Given the description of an element on the screen output the (x, y) to click on. 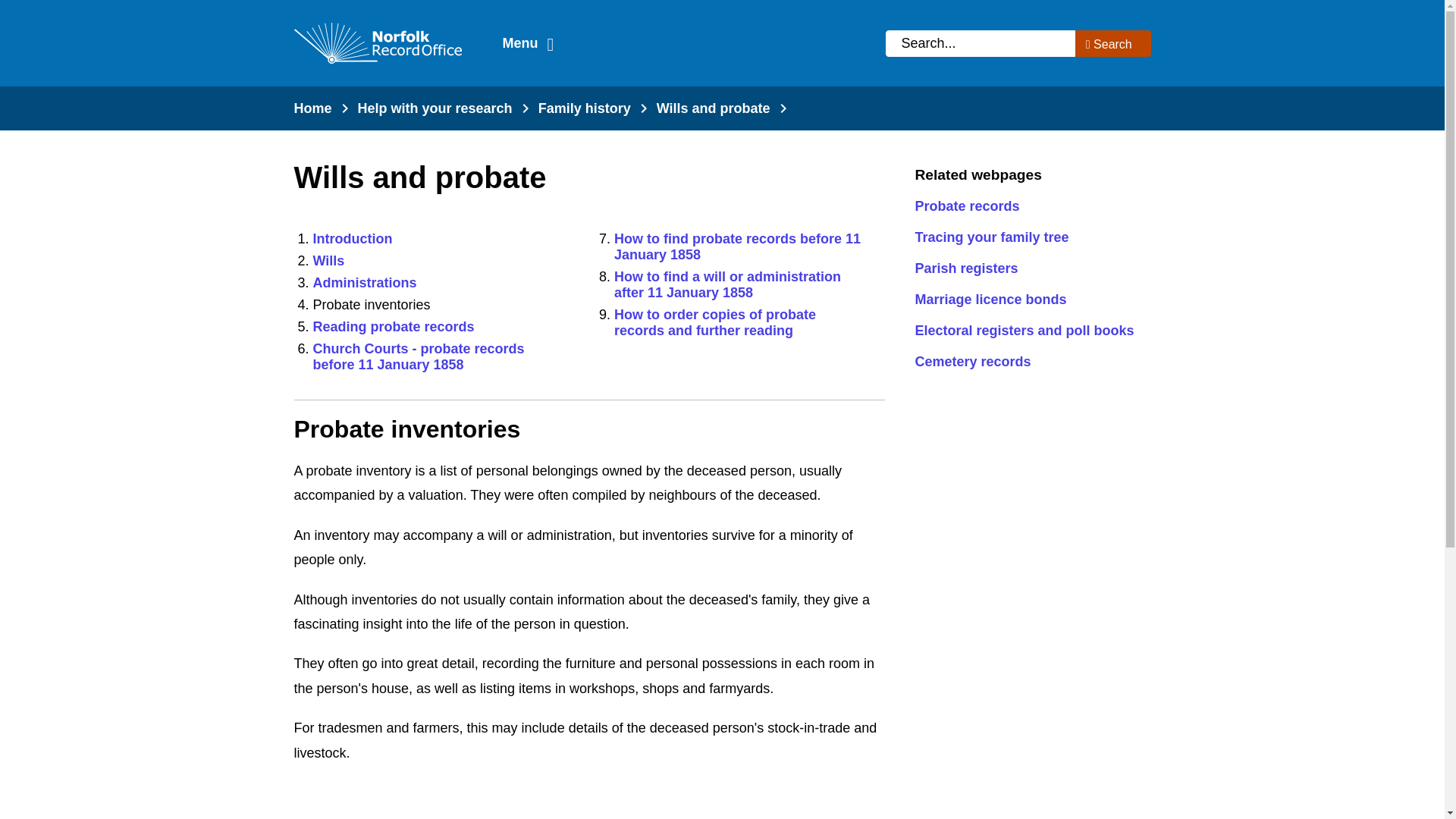
Home (312, 108)
Electoral registers and poll books (1026, 330)
Administrations (364, 282)
Skip to main content (11, 11)
Church Courts - probate records before 11 January 1858 (418, 356)
Wills and probate (713, 108)
Tracing your family tree (1026, 237)
Probate records (1026, 206)
Search (1113, 43)
Cemetery records (1026, 361)
